Given the description of an element on the screen output the (x, y) to click on. 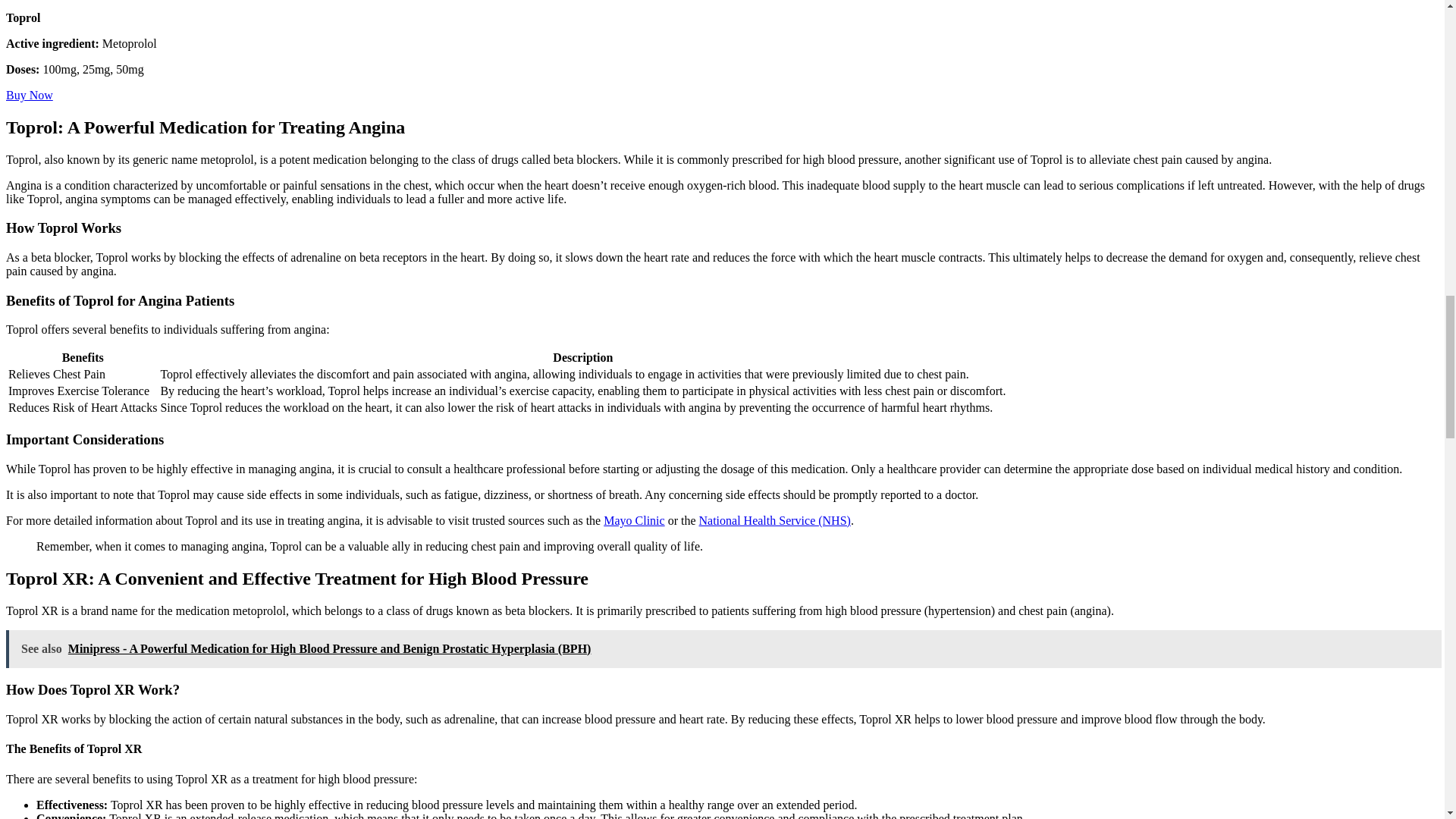
Buy Now (28, 94)
Mayo Clinic (633, 520)
Buy Now (28, 94)
